Given the description of an element on the screen output the (x, y) to click on. 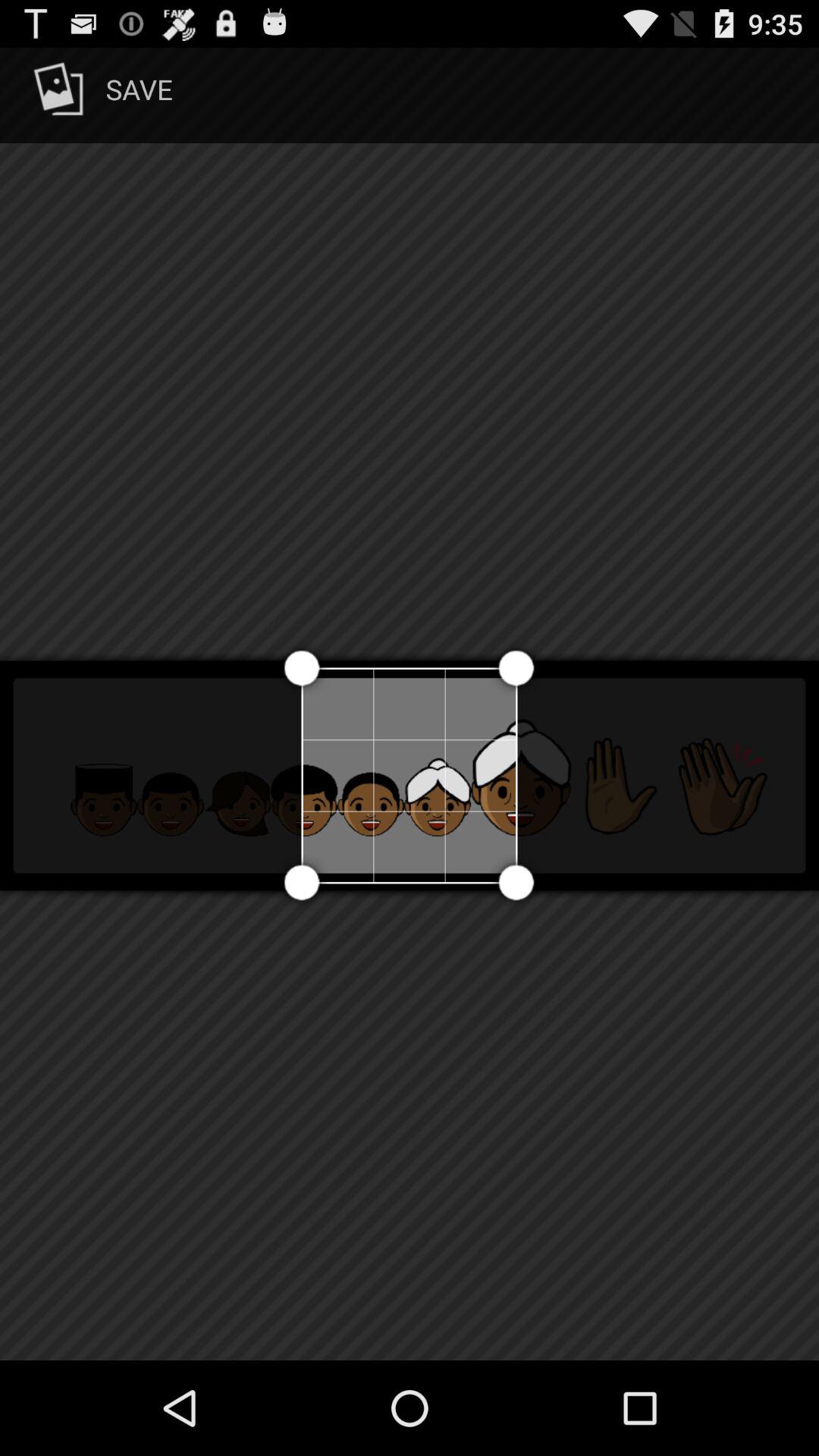
turn on the icon at the top left corner (100, 95)
